Given the description of an element on the screen output the (x, y) to click on. 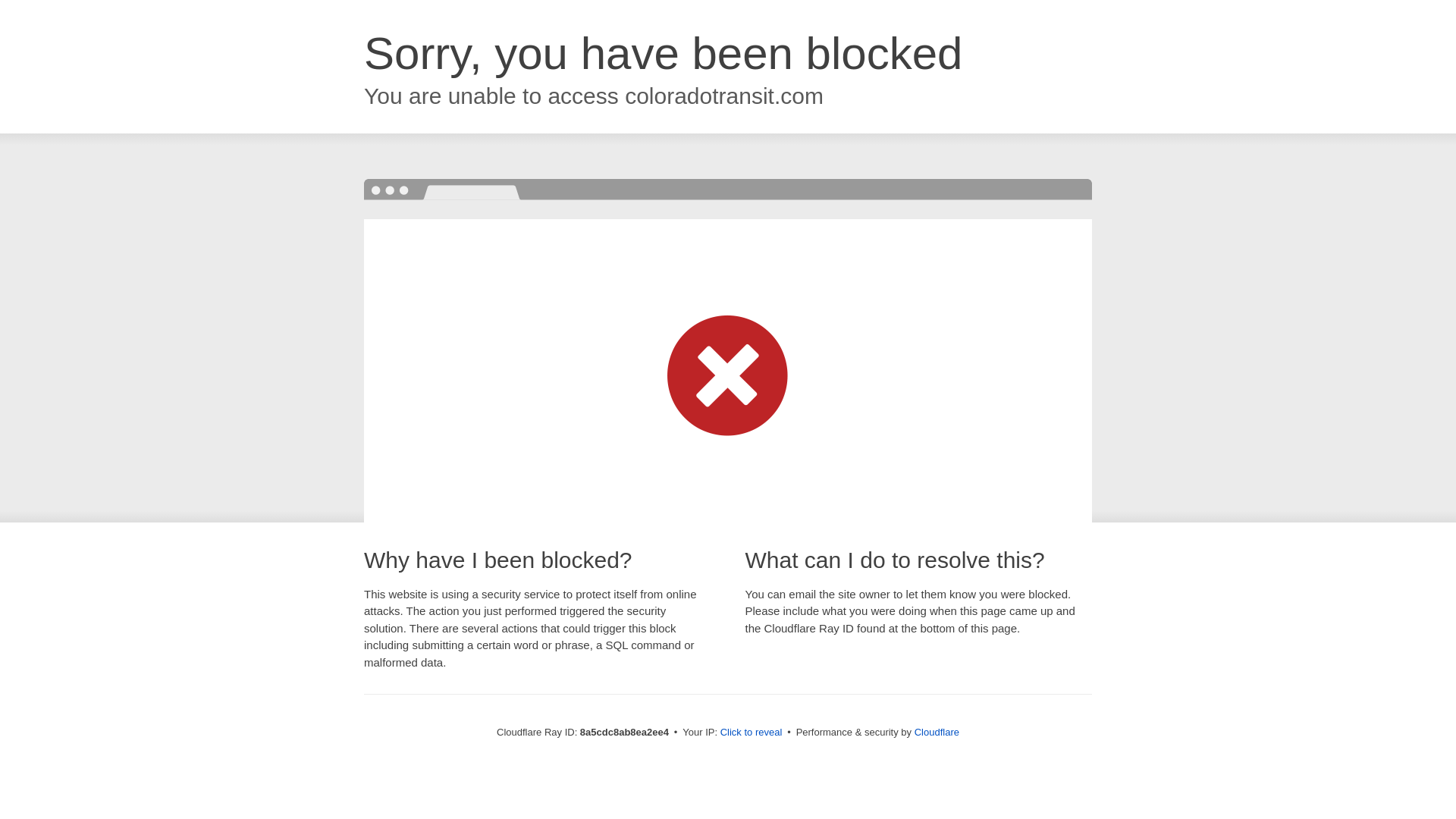
Cloudflare (936, 731)
Click to reveal (751, 732)
